Given the description of an element on the screen output the (x, y) to click on. 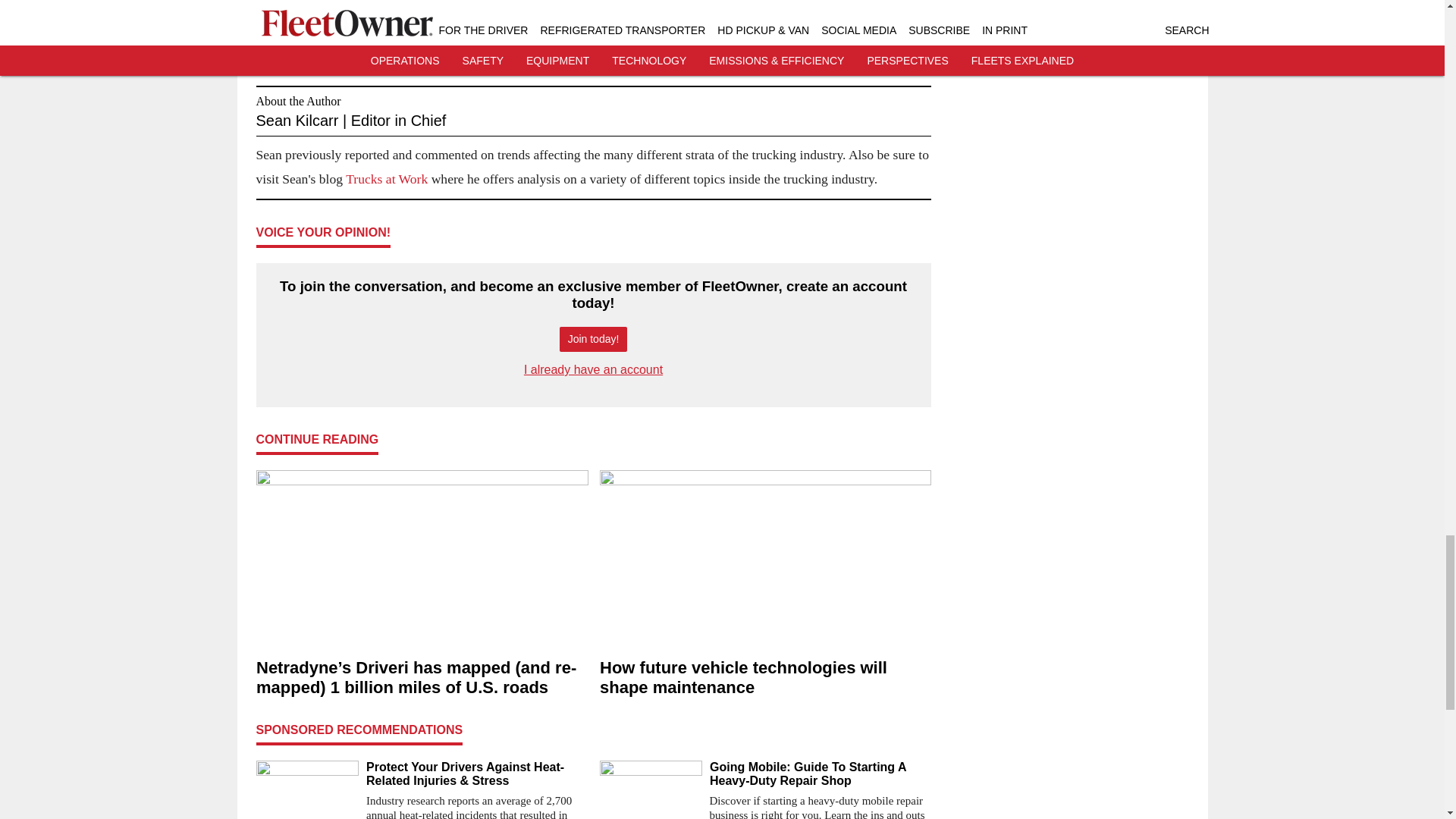
Going Mobile: Guide To Starting A Heavy-Duty Repair Shop (820, 773)
I already have an account (593, 369)
Join today! (593, 339)
Trucks at Work (387, 178)
How future vehicle technologies will shape maintenance (764, 677)
